Given the description of an element on the screen output the (x, y) to click on. 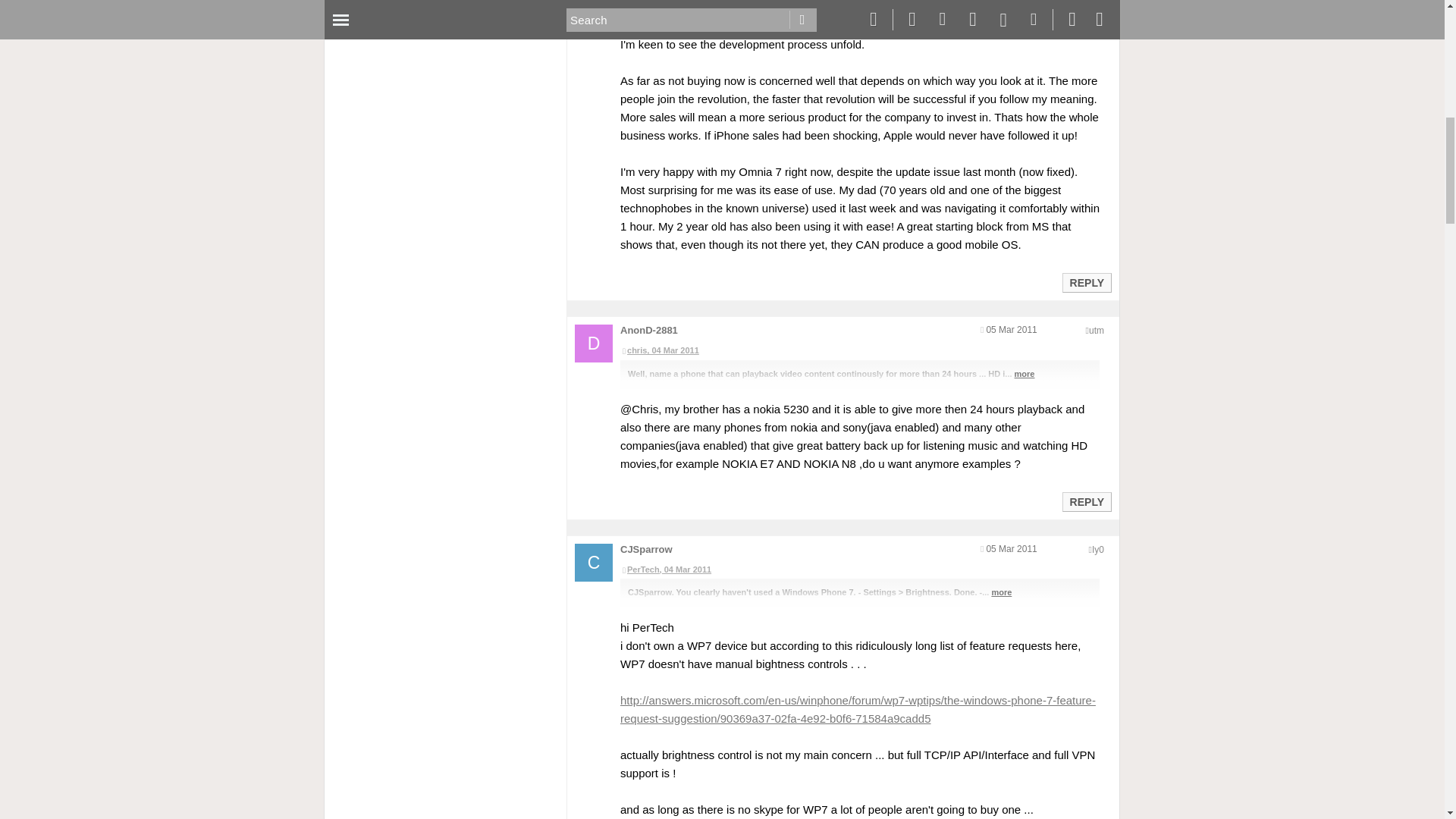
Reply to this post (1086, 282)
Reply to this post (1086, 501)
Encoded anonymized location (1097, 549)
Encoded anonymized location (1096, 330)
REPLY (1086, 282)
chris, 04 Mar 2011 (859, 350)
more (1024, 373)
